Given the description of an element on the screen output the (x, y) to click on. 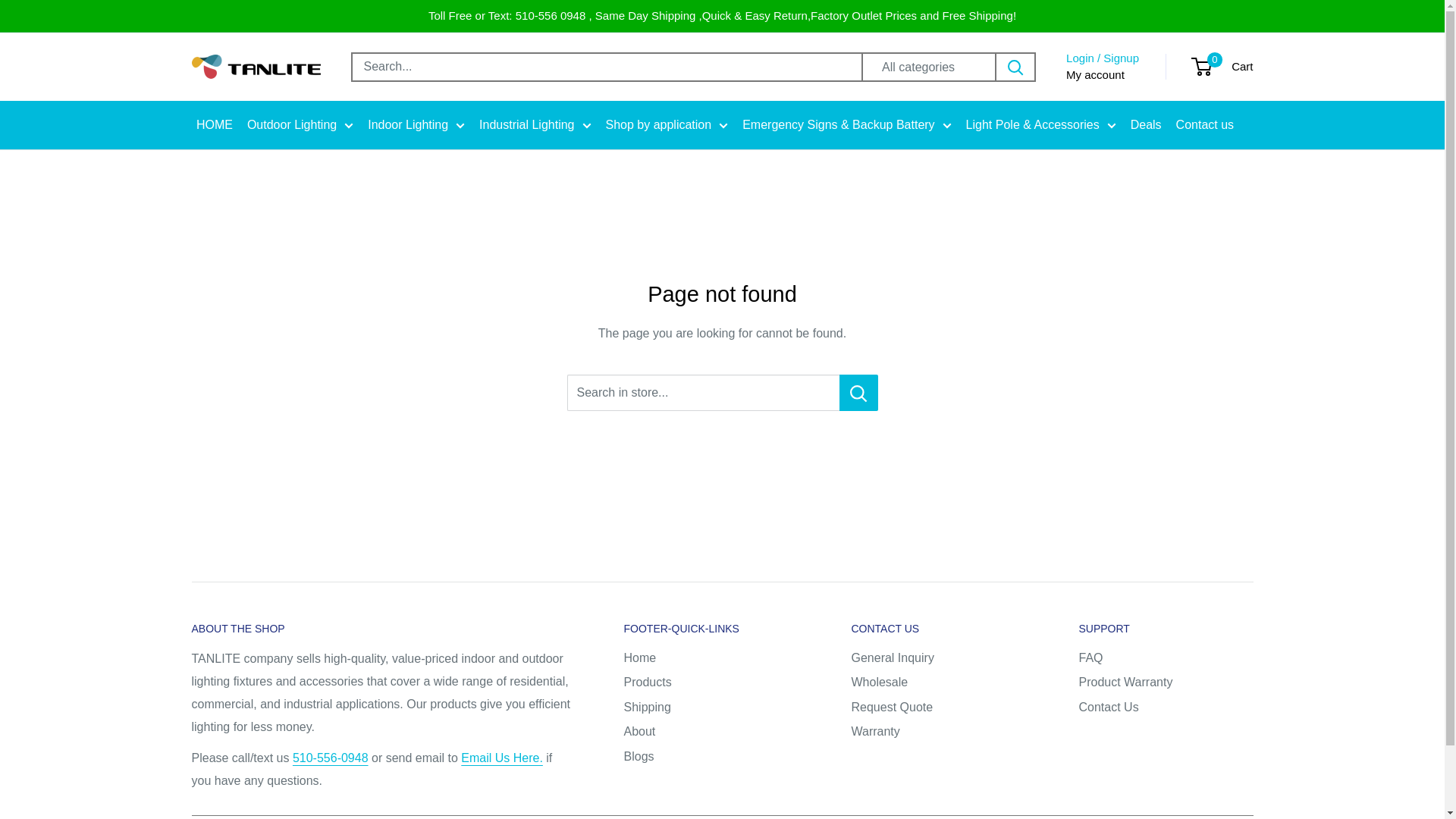
Contact Us (330, 757)
